Given the description of an element on the screen output the (x, y) to click on. 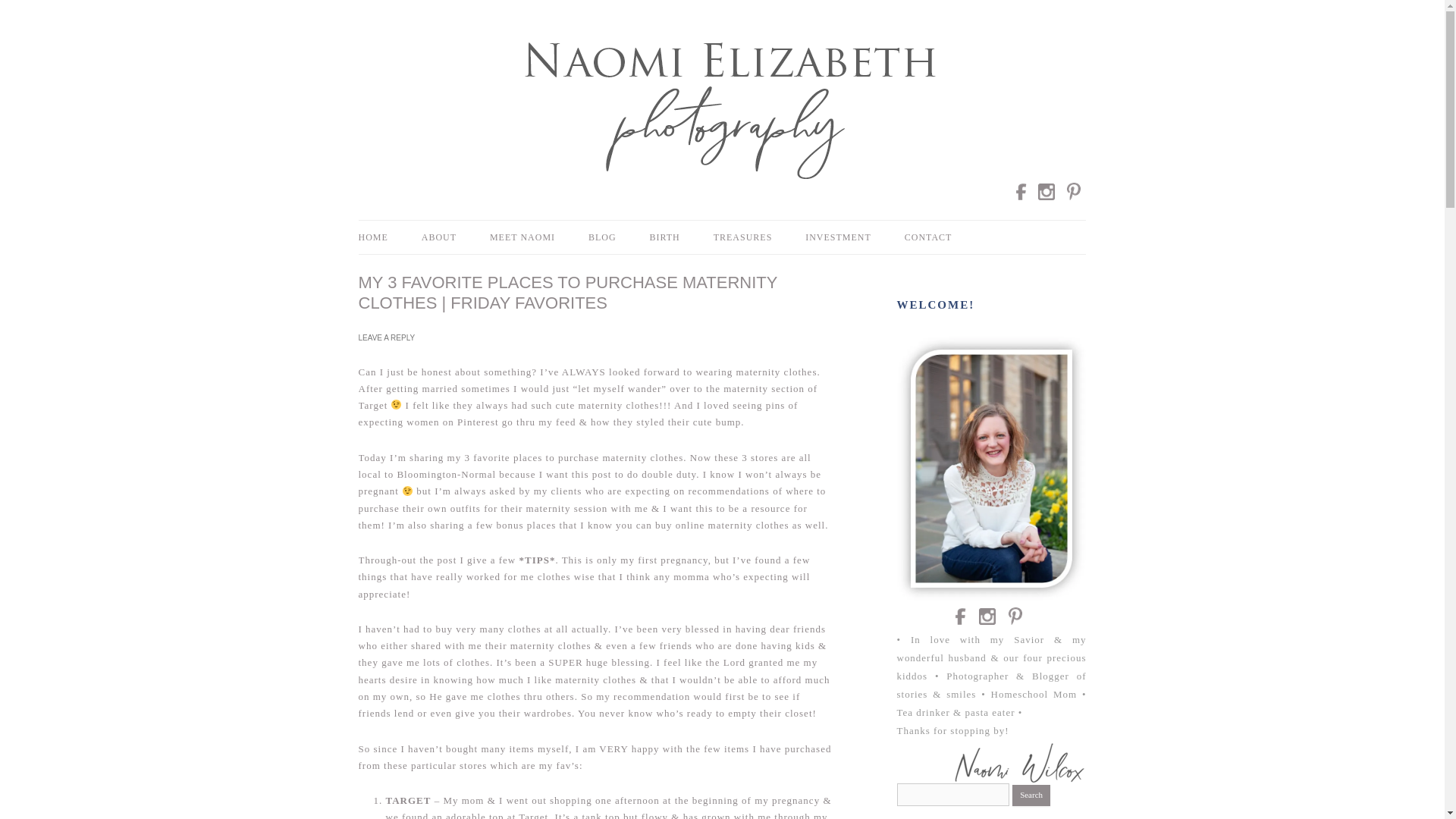
Search (1030, 794)
NAOMI ELIZABETH PHOTOGRAPHY (681, 52)
MEET NAOMI (521, 236)
CONTACT (928, 236)
INVESTMENT (837, 236)
BIRTH (664, 236)
Search (1030, 794)
Naomi Elizabeth Photography (681, 52)
TREASURES (743, 236)
LEAVE A REPLY (386, 337)
ABOUT (439, 236)
